Given the description of an element on the screen output the (x, y) to click on. 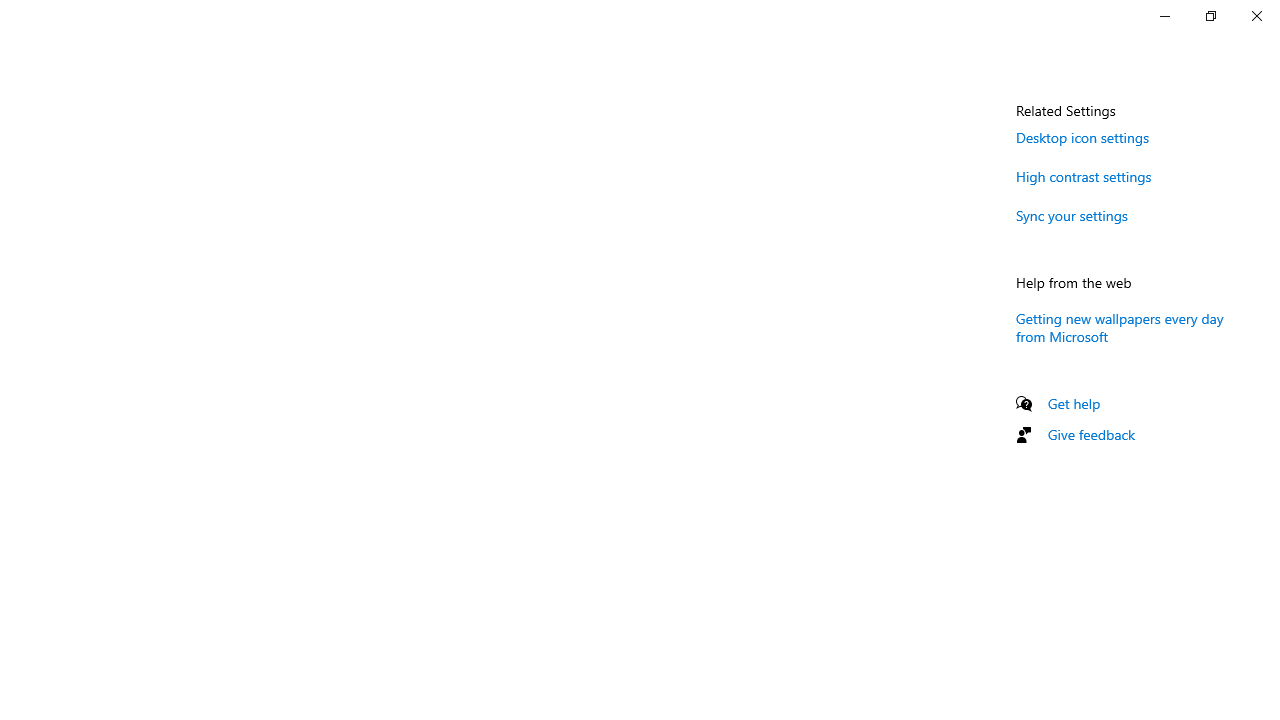
Get help (1074, 403)
Desktop icon settings (1082, 137)
Give feedback (1091, 434)
Minimize Settings (1164, 15)
Getting new wallpapers every day from Microsoft (1119, 327)
Sync your settings (1071, 214)
Restore Settings (1210, 15)
High contrast settings (1084, 176)
Close Settings (1256, 15)
